Given the description of an element on the screen output the (x, y) to click on. 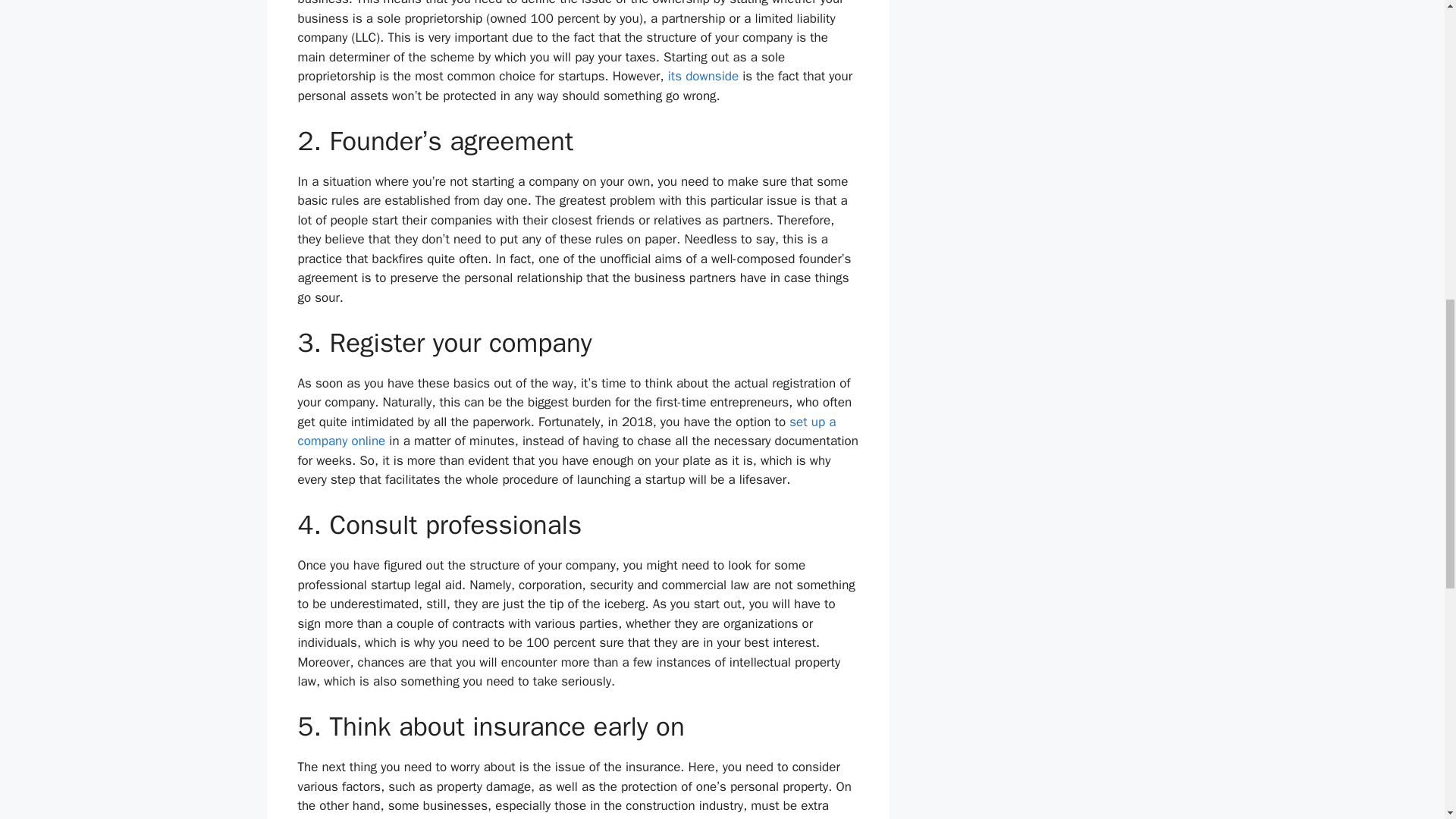
set up a company online (566, 431)
its downside (703, 75)
